Given the description of an element on the screen output the (x, y) to click on. 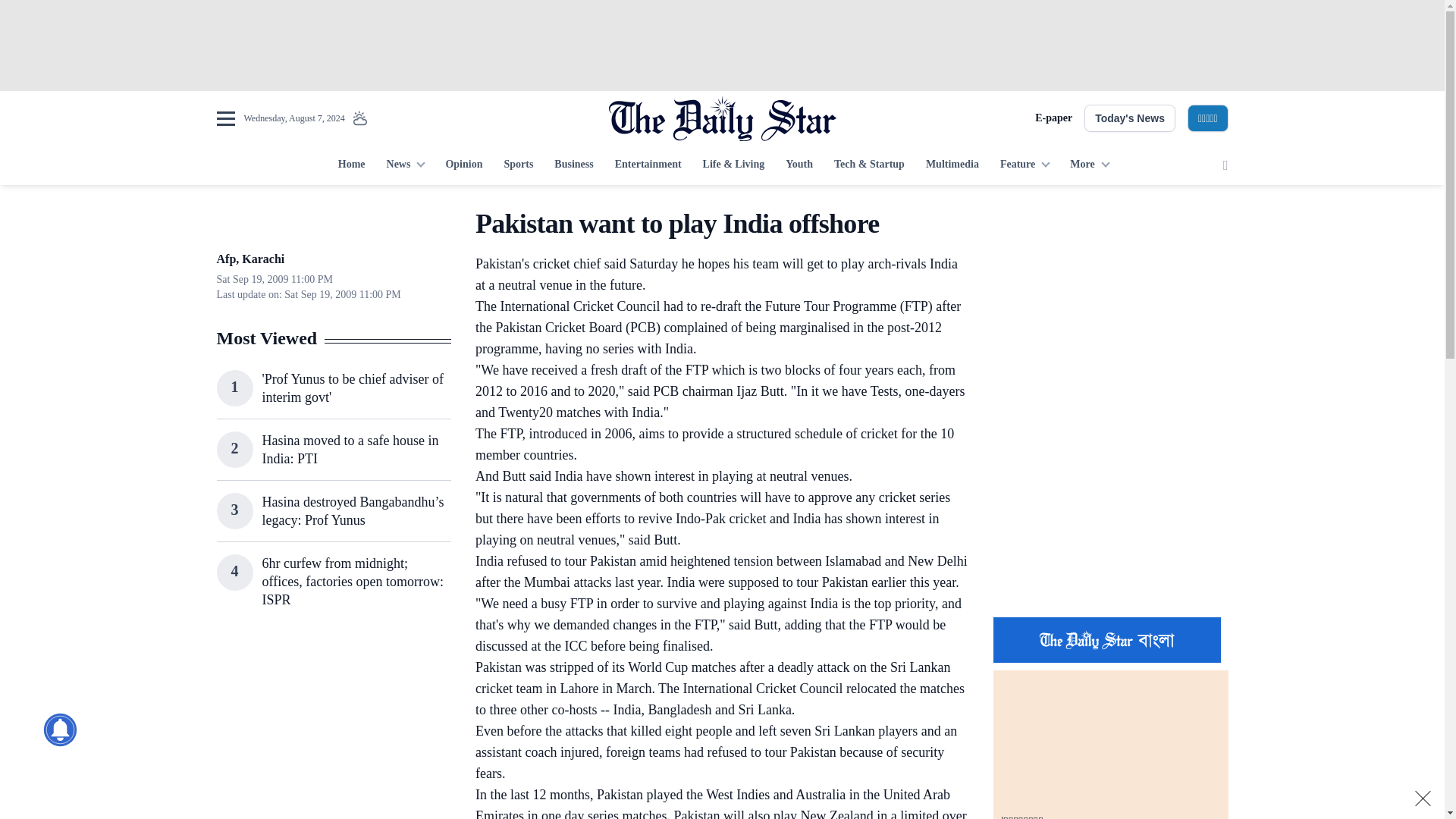
3rd party ad content (1110, 506)
Multimedia (952, 165)
Sports (518, 165)
Today's News (1129, 117)
3rd party ad content (721, 45)
Entertainment (647, 165)
Youth (799, 165)
E-paper (1053, 117)
Home (351, 165)
